Given the description of an element on the screen output the (x, y) to click on. 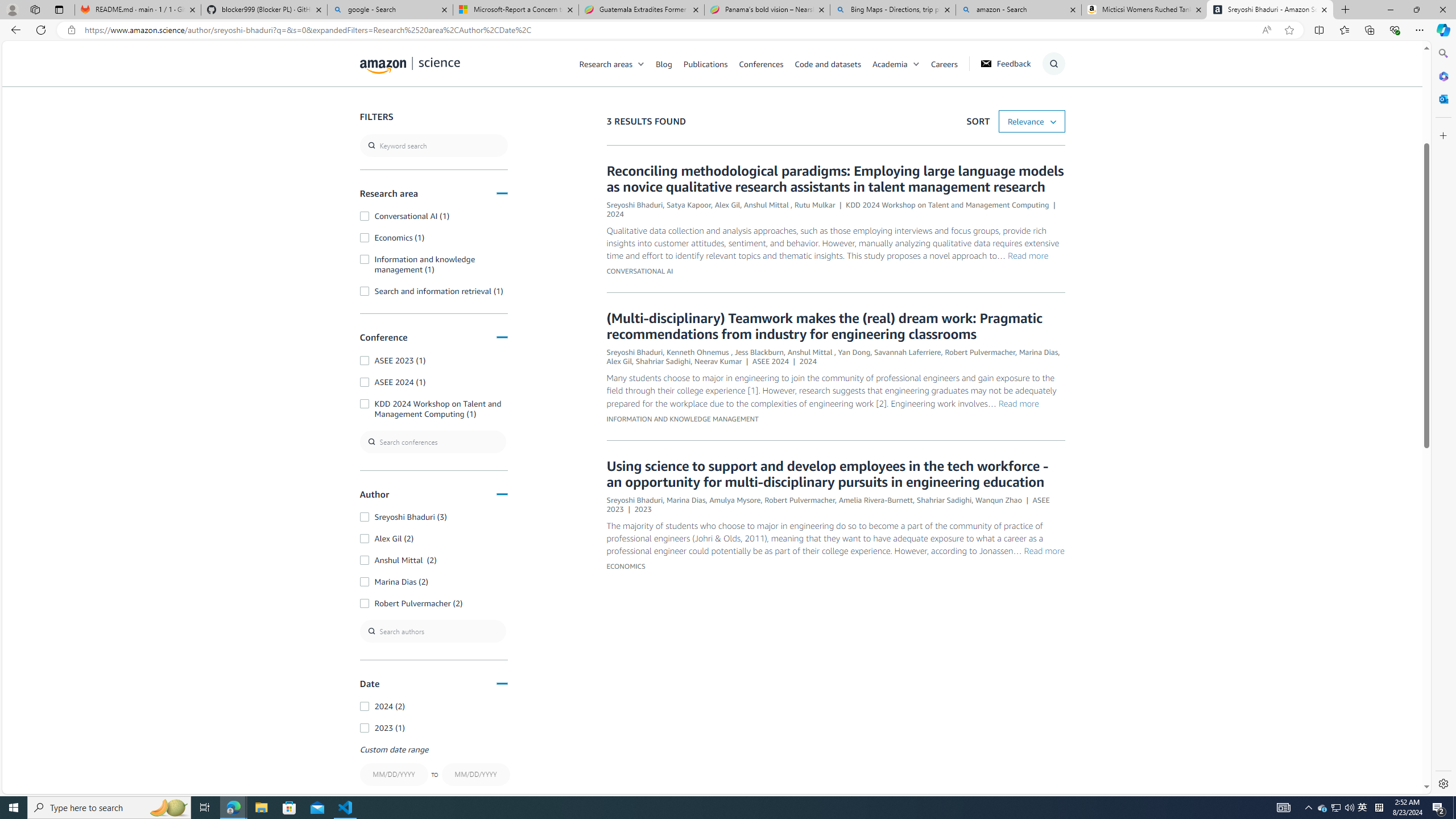
Sreyoshi Bhaduri (633, 499)
Sreyoshi Bhaduri - Amazon Science (1270, 9)
search (433, 145)
ECONOMICS (625, 565)
Publications (710, 63)
Submit Search (1049, 108)
Jess Blackburn (758, 352)
